Given the description of an element on the screen output the (x, y) to click on. 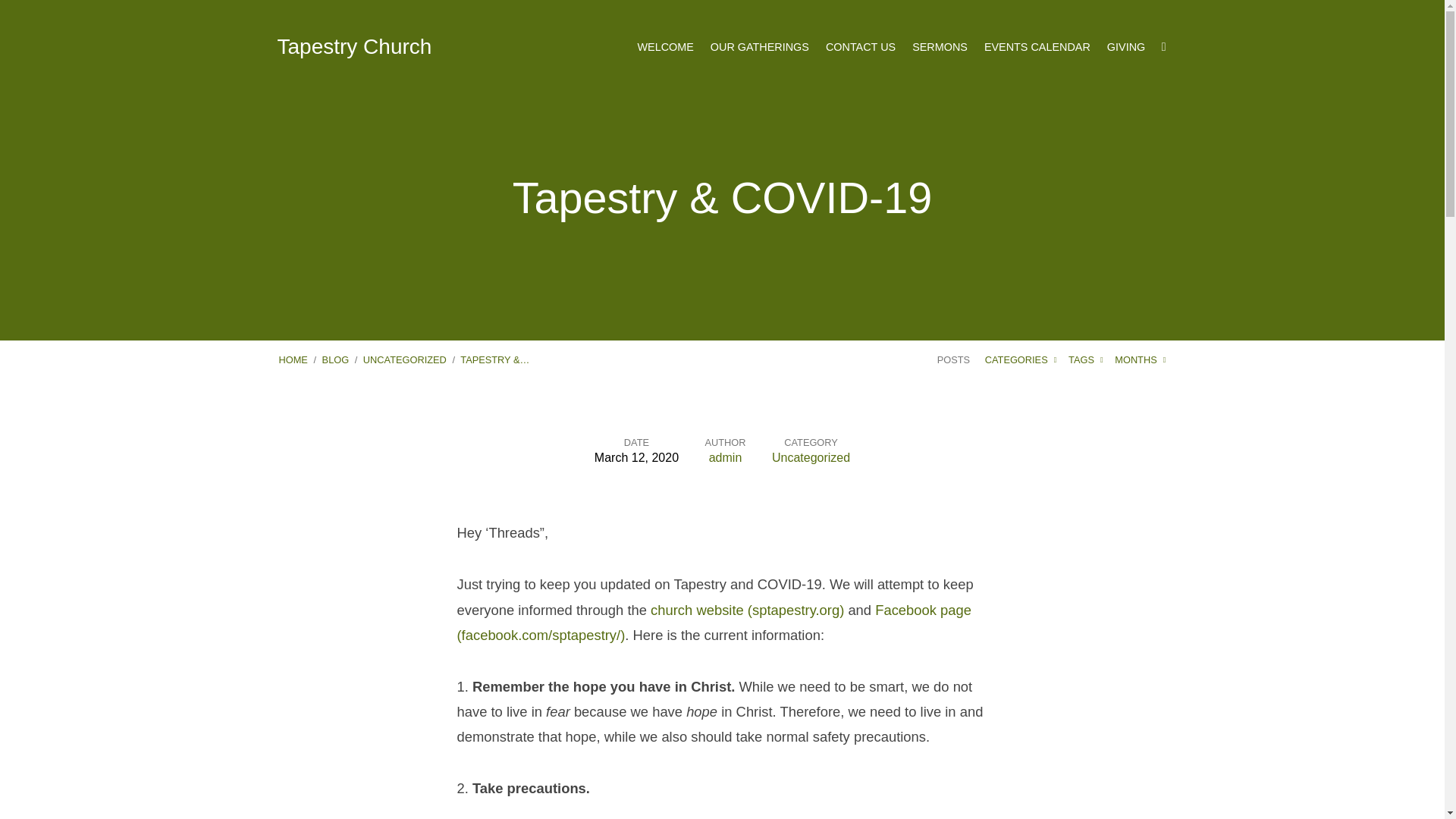
GIVING (1125, 46)
UNCATEGORIZED (404, 359)
Tapestry Church (355, 46)
EVENTS CALENDAR (1037, 46)
POSTS (953, 359)
CATEGORIES (1021, 359)
CONTACT US (860, 46)
SERMONS (940, 46)
WELCOME (665, 46)
TAGS (1085, 359)
